Given the description of an element on the screen output the (x, y) to click on. 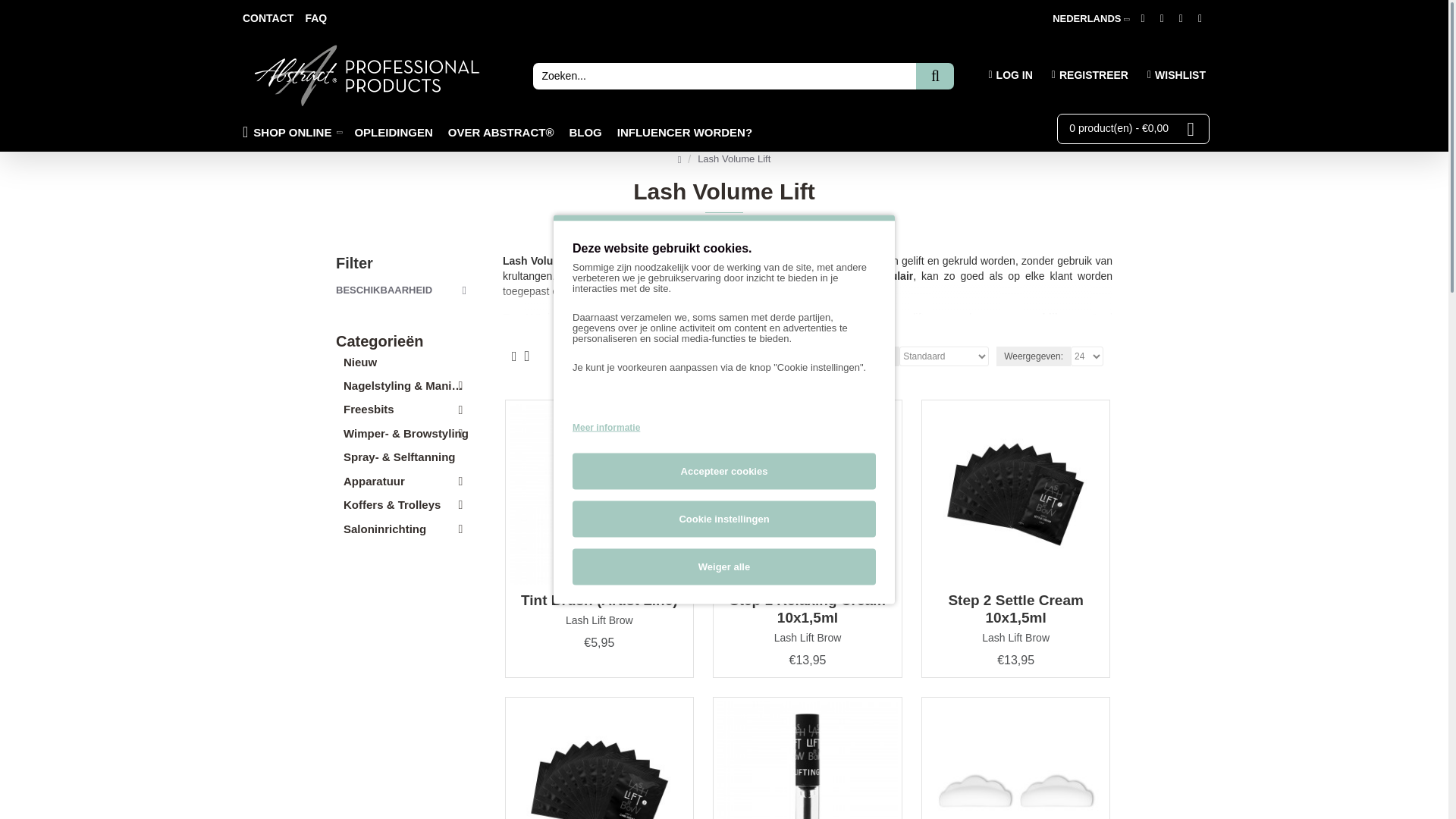
OPLEIDINGEN (397, 132)
BLOG (588, 132)
NEDERLANDS (1086, 19)
Step 2 Settle Cream 10x1,5ml (1016, 494)
Lash Volume Lift (733, 159)
SHOP ONLINE (294, 132)
Lifting Bond 5ml (807, 760)
LOG IN (1005, 75)
Step 1 Relaxing Cream 10x1,5ml (807, 494)
CONTACT (267, 18)
